Given the description of an element on the screen output the (x, y) to click on. 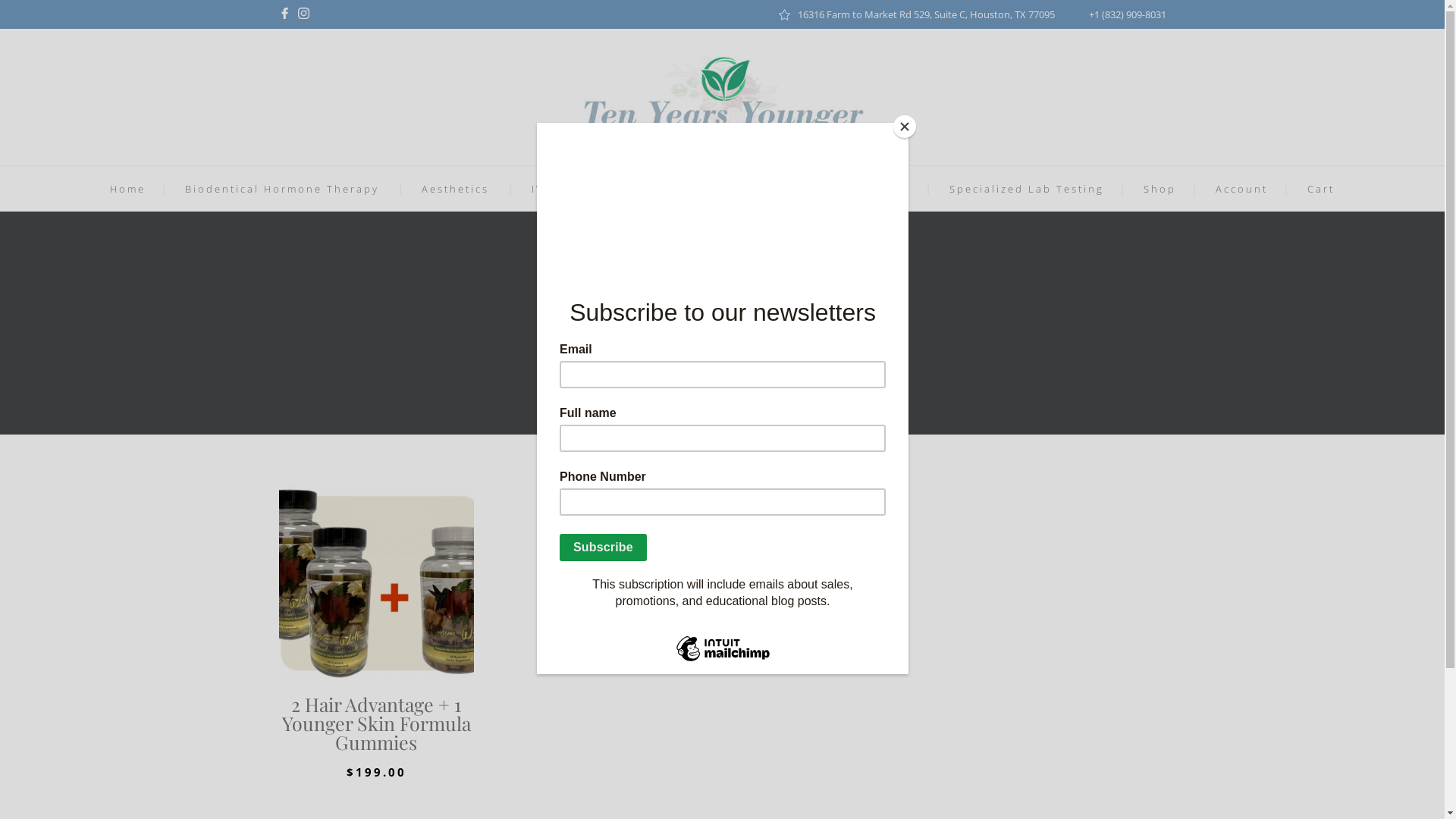
Account Element type: text (1241, 188)
Shop Element type: text (1159, 188)
IV Therapy Element type: text (566, 188)
+1 (832) 909-8031 Element type: text (1127, 14)
Specialized Lab Testing Element type: text (1026, 188)
Biodentical Hormone Therapy Element type: text (282, 188)
16316 Farm to Market Rd 529, Suite C, Houston, TX 77095 Element type: text (925, 14)
Cart Element type: text (1320, 188)
Weight Loss Element type: text (679, 188)
Search Element type: text (888, 410)
Aesthetics Element type: text (455, 188)
2 Hair Advantage + 1 Younger Skin Formula Gummies
$199.00 Element type: text (376, 630)
Home Element type: text (127, 188)
